Given the description of an element on the screen output the (x, y) to click on. 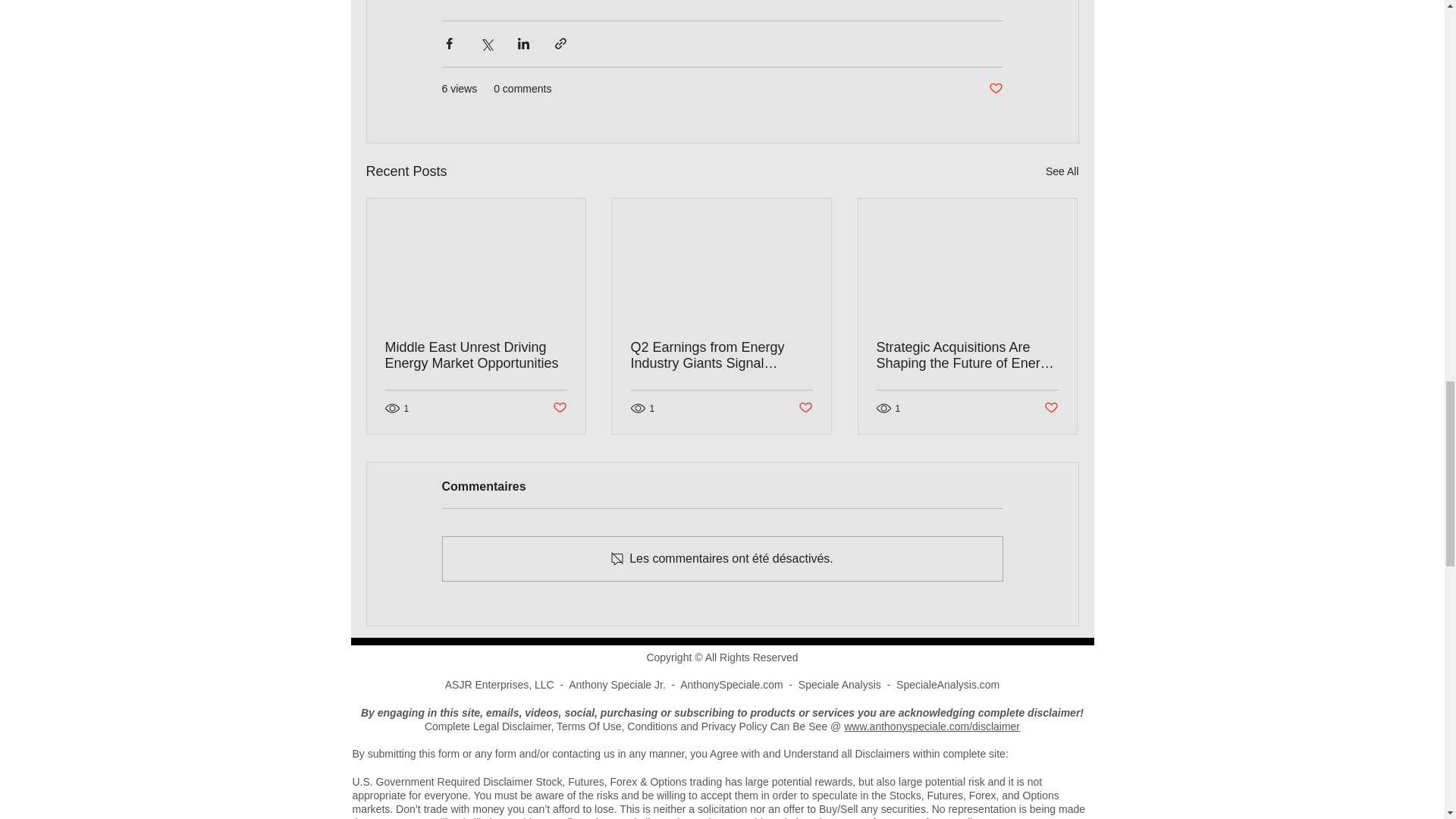
Post not marked as liked (995, 89)
Middle East Unrest Driving Energy Market Opportunities (476, 355)
Post not marked as liked (804, 408)
See All (1061, 171)
Post not marked as liked (558, 408)
Post not marked as liked (1050, 408)
